Given the description of an element on the screen output the (x, y) to click on. 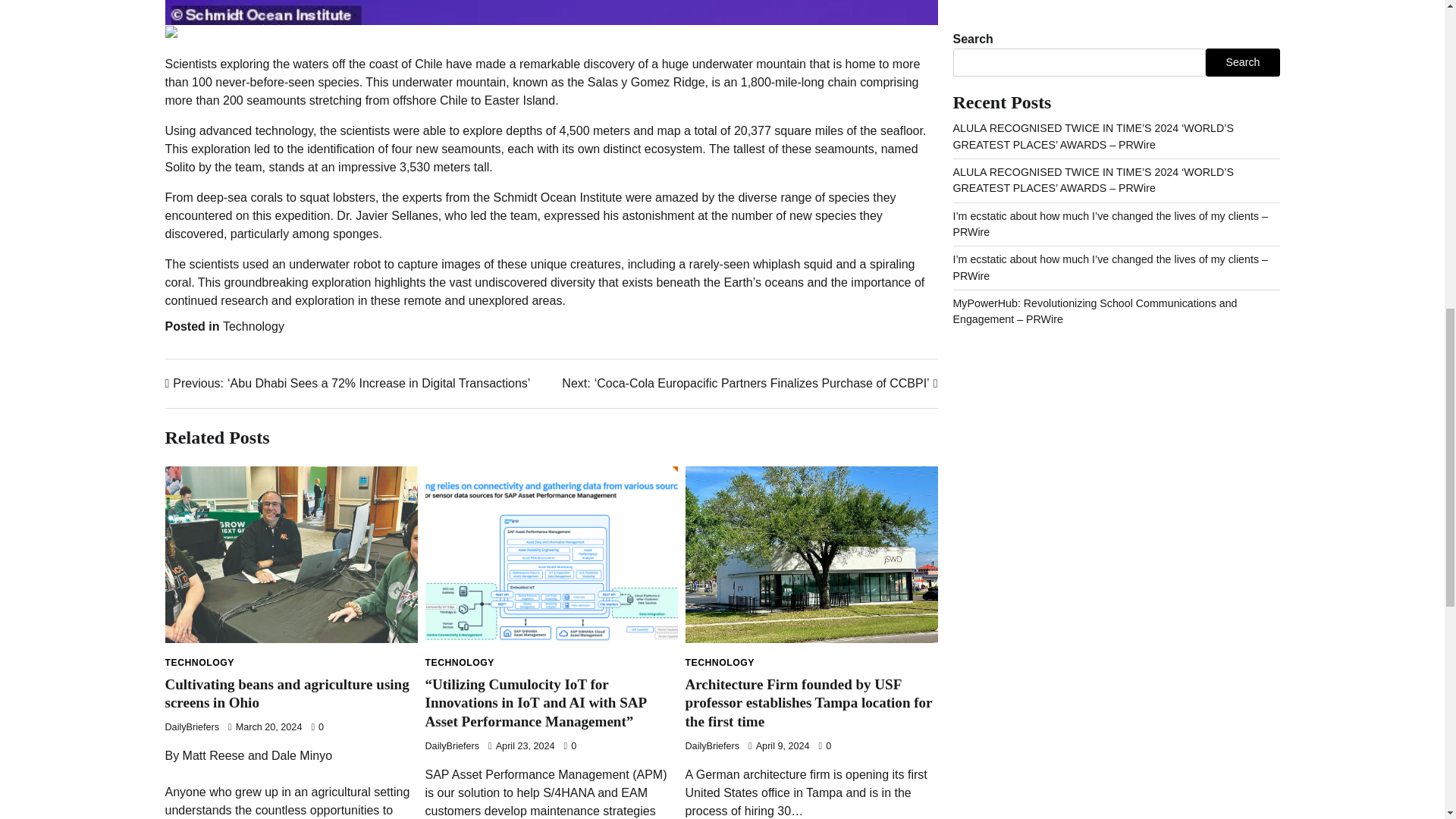
TECHNOLOGY (459, 662)
TECHNOLOGY (199, 662)
DailyBriefers (712, 746)
TECHNOLOGY (719, 662)
Cultivating beans and agriculture using screens in Ohio (287, 693)
Technology (252, 326)
DailyBriefers (452, 746)
DailyBriefers (192, 726)
